Given the description of an element on the screen output the (x, y) to click on. 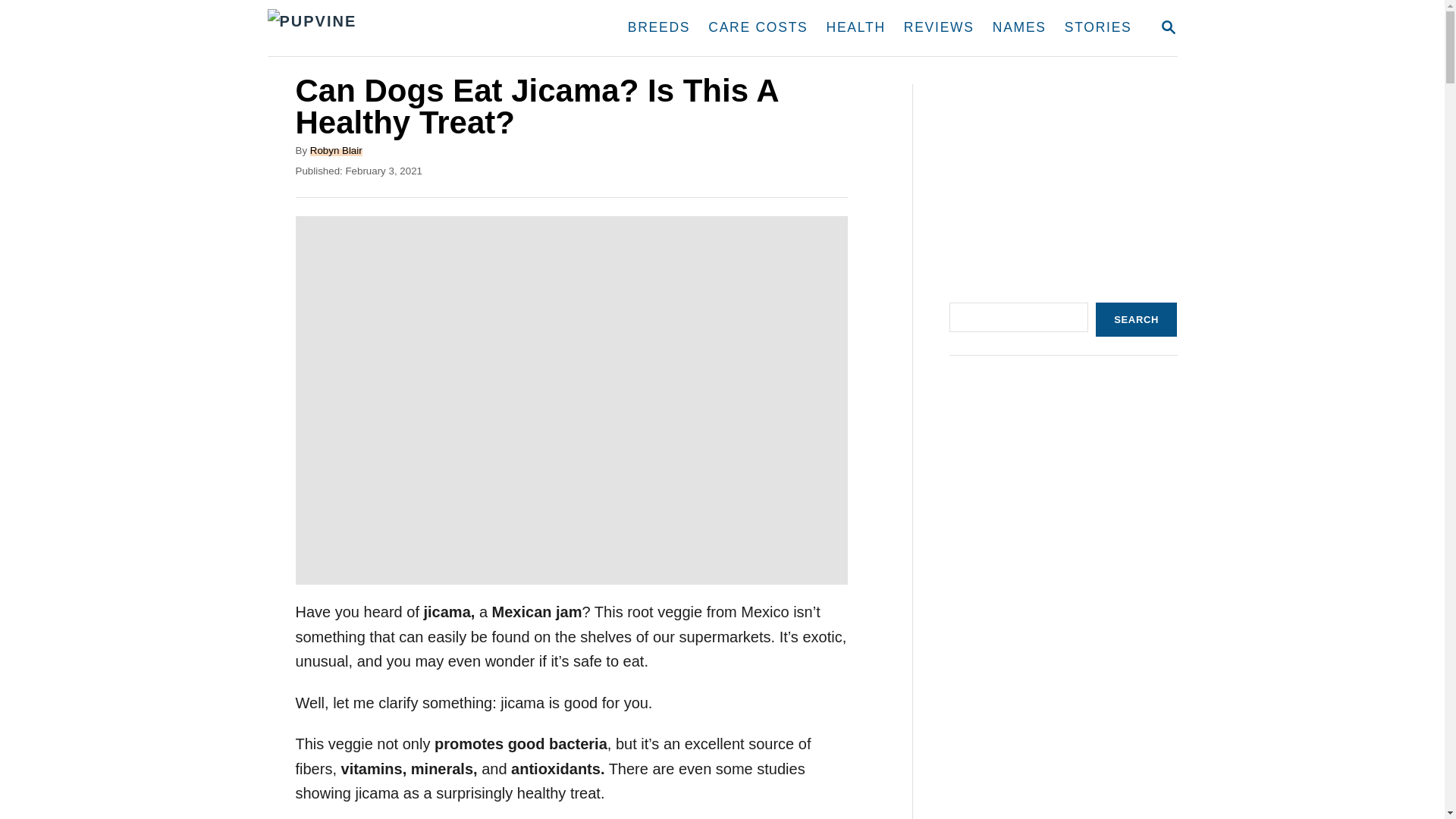
MAGNIFYING GLASS (1167, 27)
BREEDS (658, 27)
REVIEWS (939, 27)
CARE COSTS (757, 27)
PupVine (411, 28)
NAMES (1019, 27)
STORIES (1167, 28)
HEALTH (1098, 27)
Robyn Blair (855, 27)
